Given the description of an element on the screen output the (x, y) to click on. 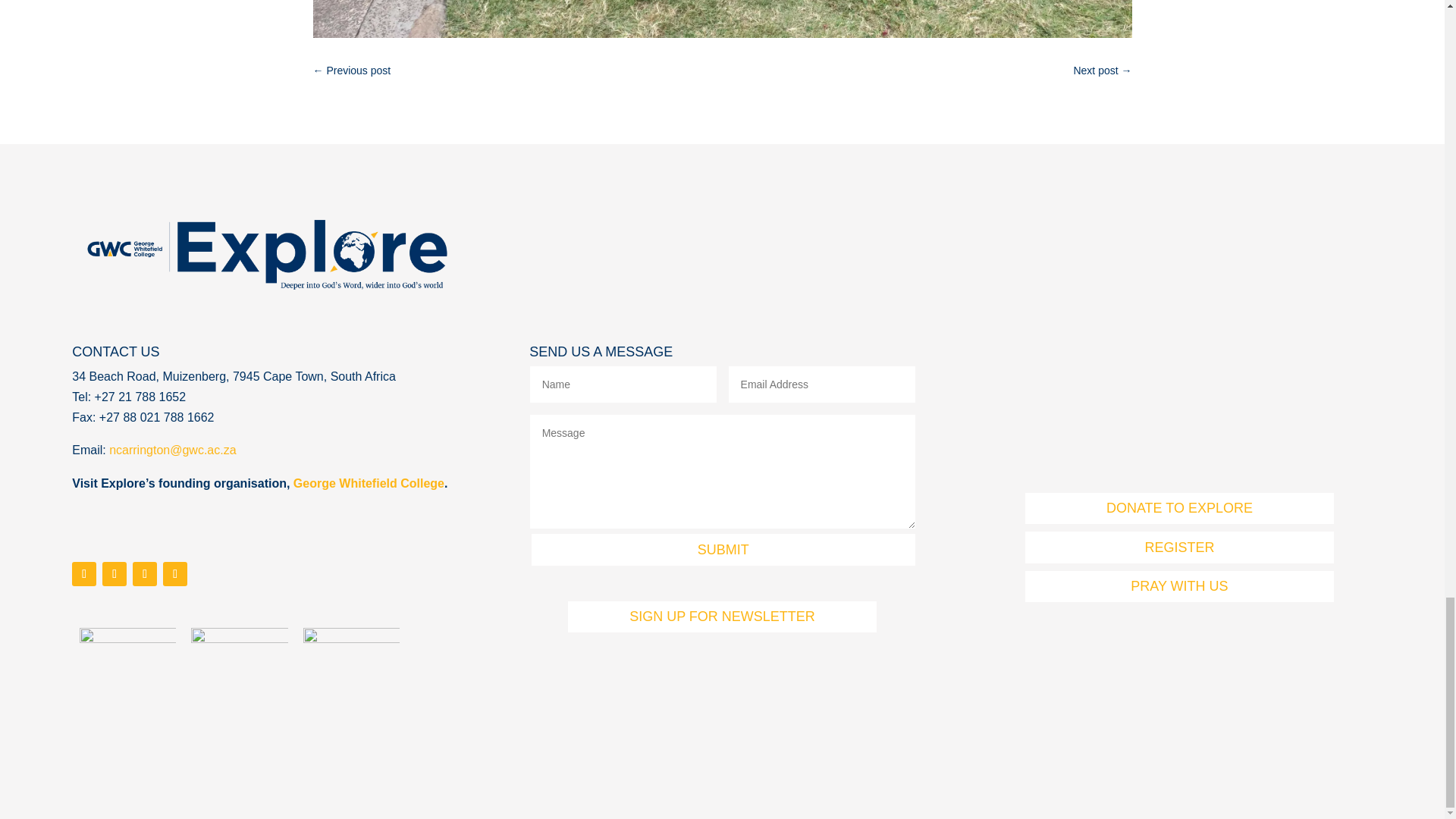
REGISTER (1179, 546)
Follow on Instagram (113, 573)
AfCAA Logo - High Resolution (238, 674)
George Whitefield College (369, 482)
Charter Member - 1 (128, 669)
Accredited Member - 1 (350, 669)
Follow on Facebook (83, 573)
SUBMIT (723, 549)
SIGN UP FOR NEWSLETTER (721, 616)
Follow on Youtube (144, 573)
